Given the description of an element on the screen output the (x, y) to click on. 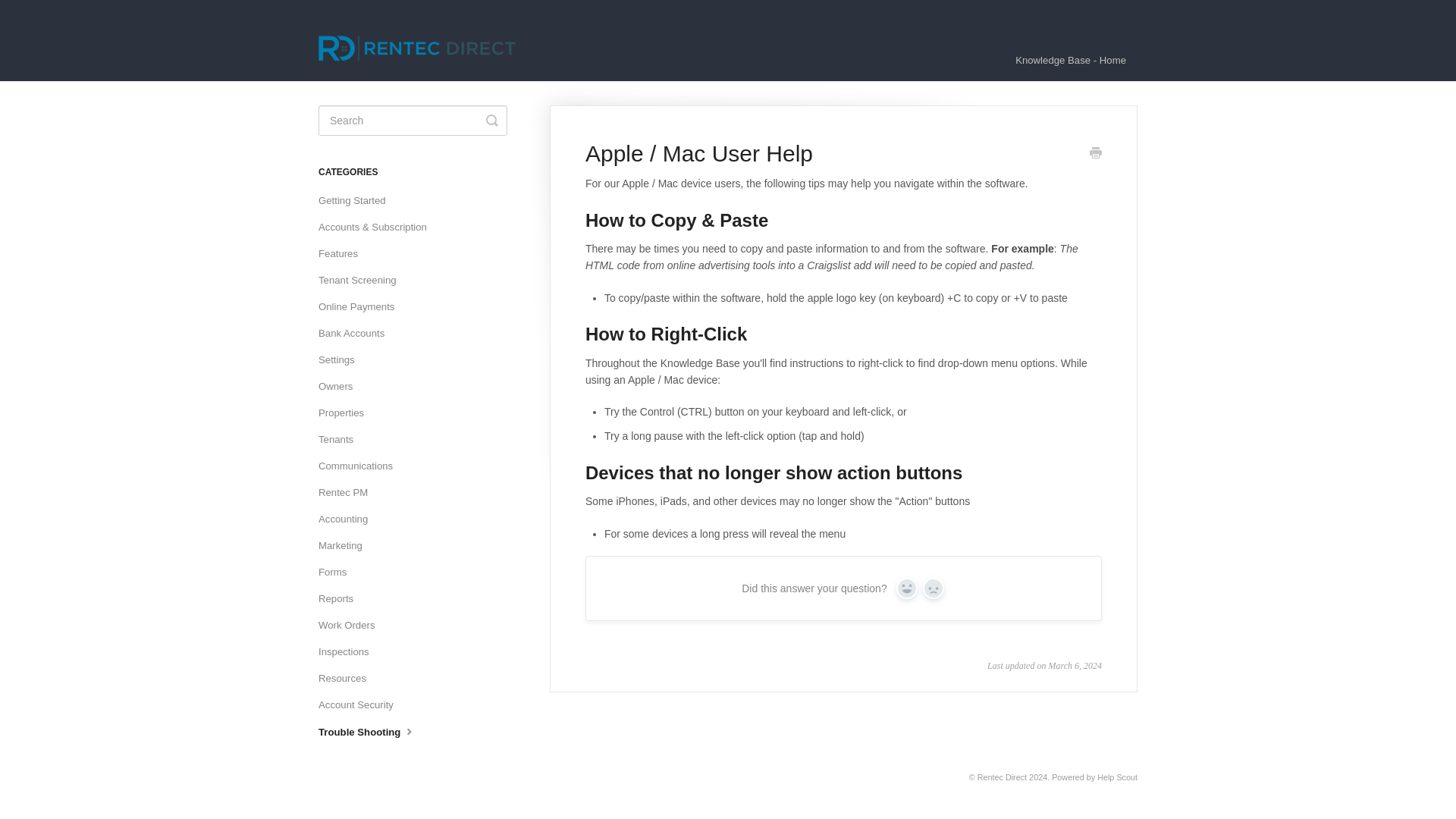
No (933, 588)
Knowledge Base - Home (1070, 60)
Reports (341, 598)
Forms (338, 572)
Inspections (349, 651)
Rentec Direct (1001, 777)
Bank Accounts (357, 333)
Yes (906, 588)
Work Orders (352, 625)
Settings (342, 360)
